Given the description of an element on the screen output the (x, y) to click on. 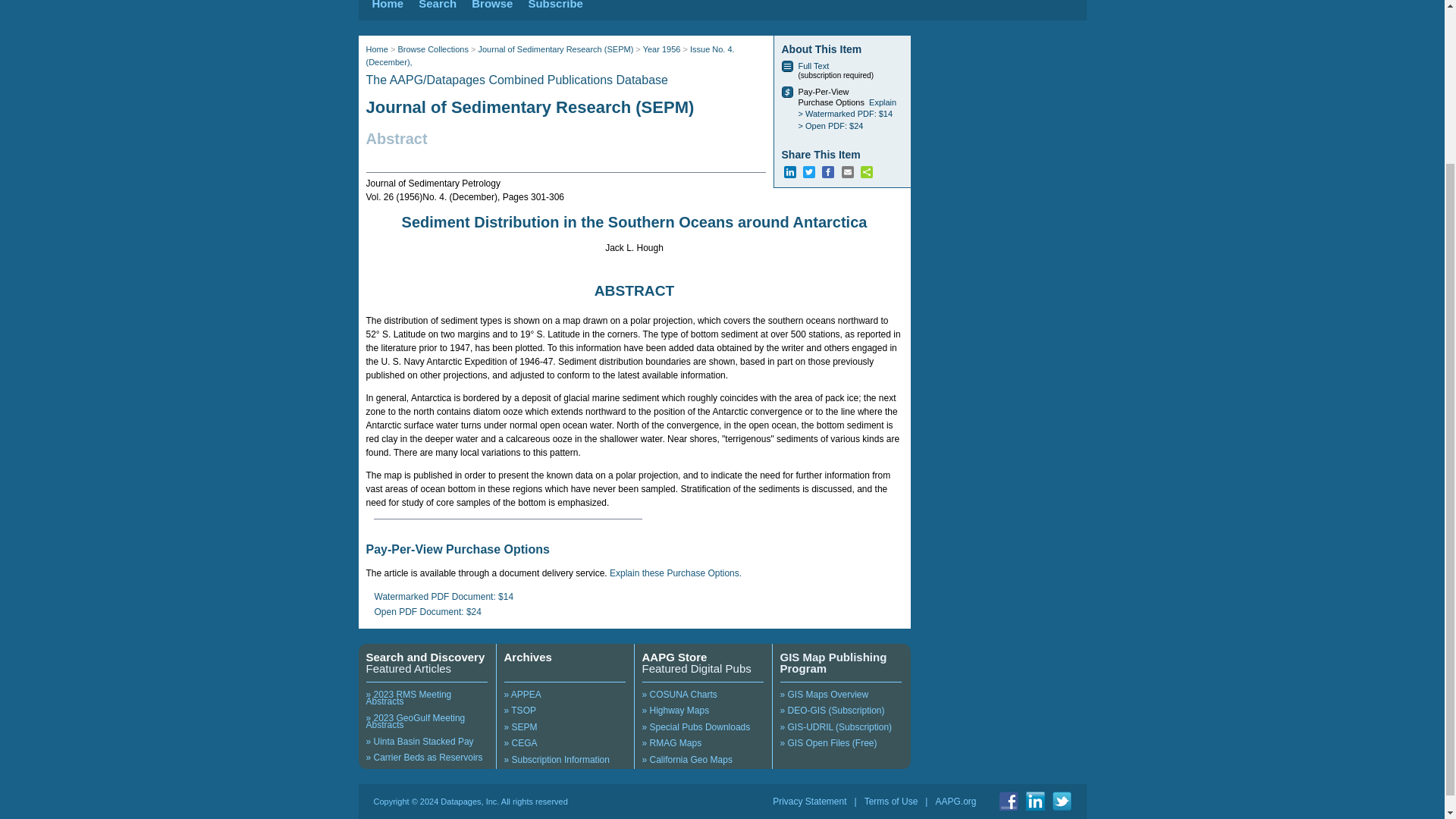
Home (387, 4)
Search (438, 4)
Browse (491, 4)
Subscribe (555, 4)
